Given the description of an element on the screen output the (x, y) to click on. 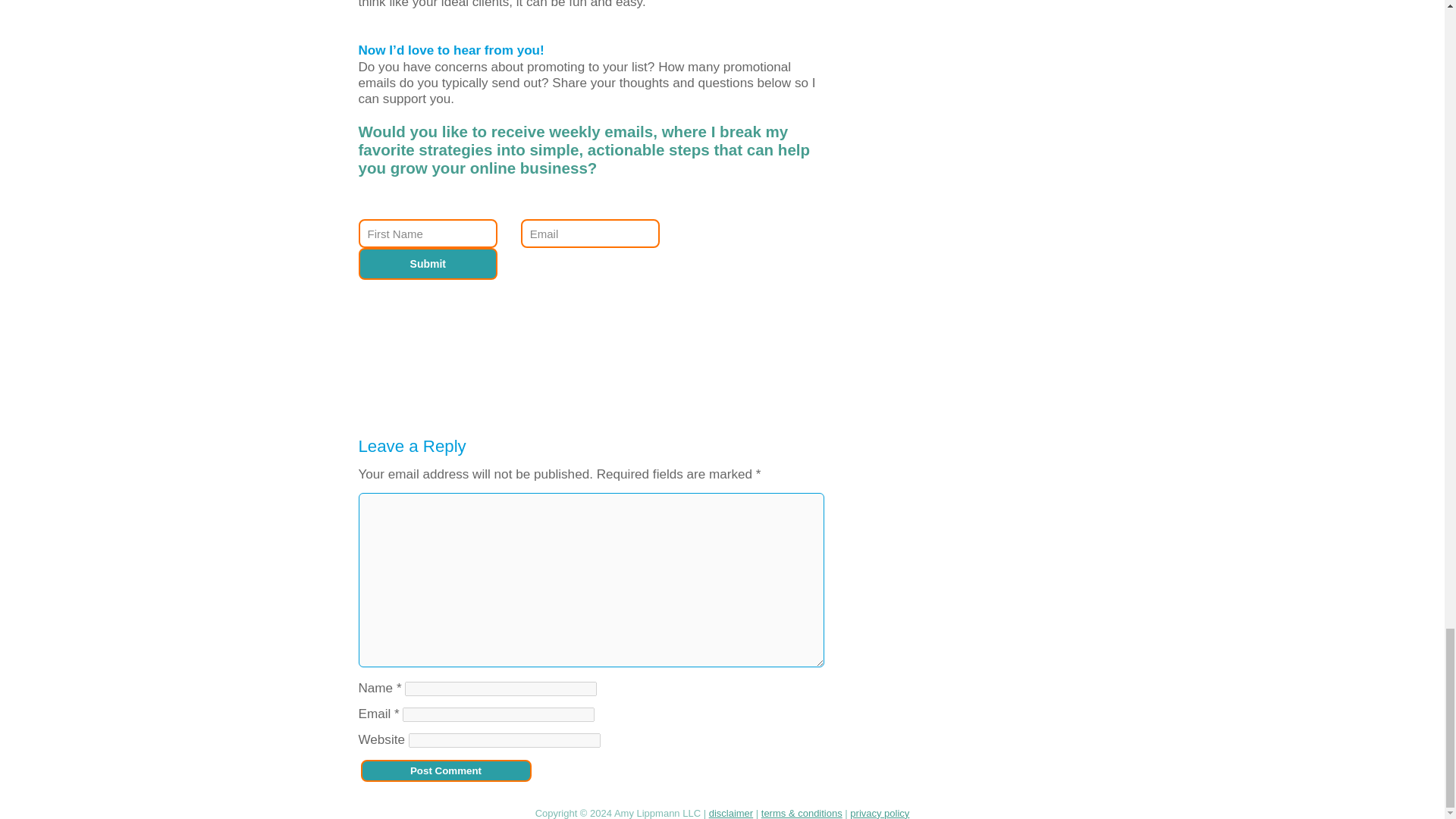
Post Comment (446, 771)
Submit (427, 264)
Post Comment (446, 771)
